Given the description of an element on the screen output the (x, y) to click on. 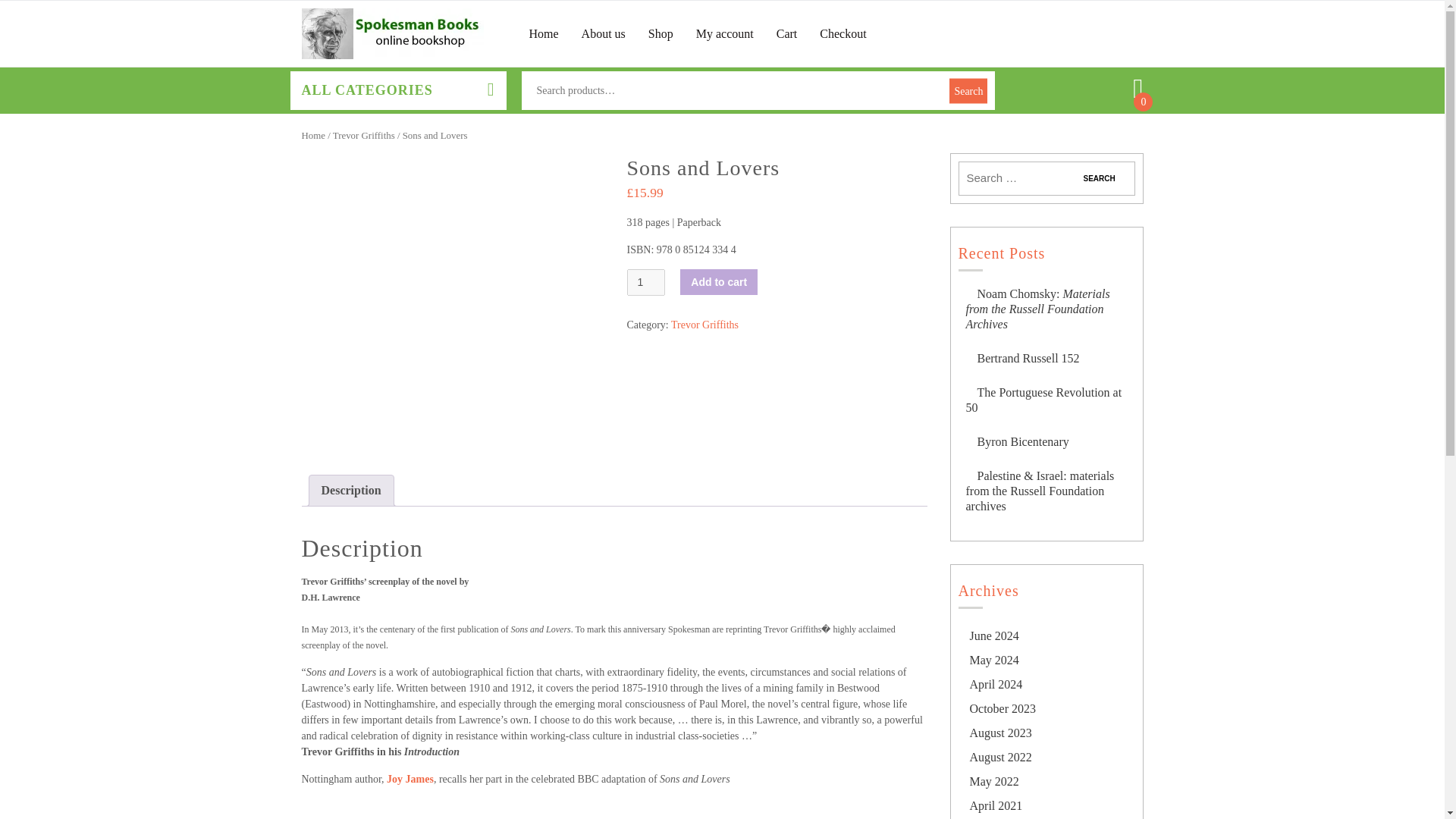
Home (544, 33)
Search (1099, 178)
About us (603, 33)
My account (724, 33)
Cart (786, 33)
Shop (659, 33)
Checkout (842, 33)
Search (1099, 178)
1 (645, 282)
